Given the description of an element on the screen output the (x, y) to click on. 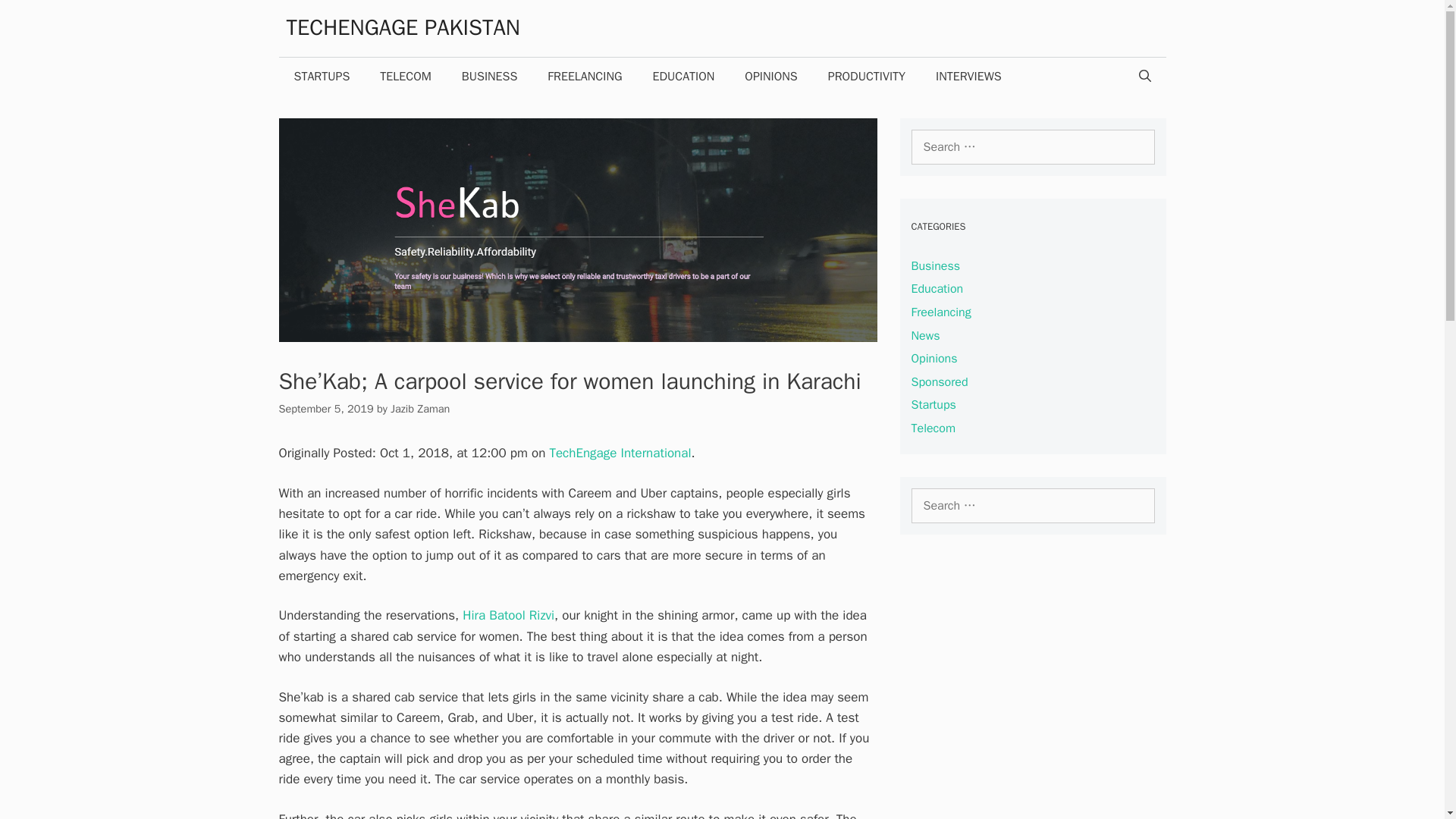
Freelancing (941, 312)
Hira Batool Rizvi (508, 615)
INTERVIEWS (968, 76)
OPINIONS (770, 76)
View all posts by Jazib Zaman (419, 408)
Opinions (934, 358)
Jazib Zaman (419, 408)
Search (34, 16)
TECHENGAGE PAKISTAN (402, 27)
PRODUCTIVITY (866, 76)
Education (937, 288)
News (925, 335)
Sponsored (939, 381)
TechEngage International (619, 453)
TELECOM (405, 76)
